Given the description of an element on the screen output the (x, y) to click on. 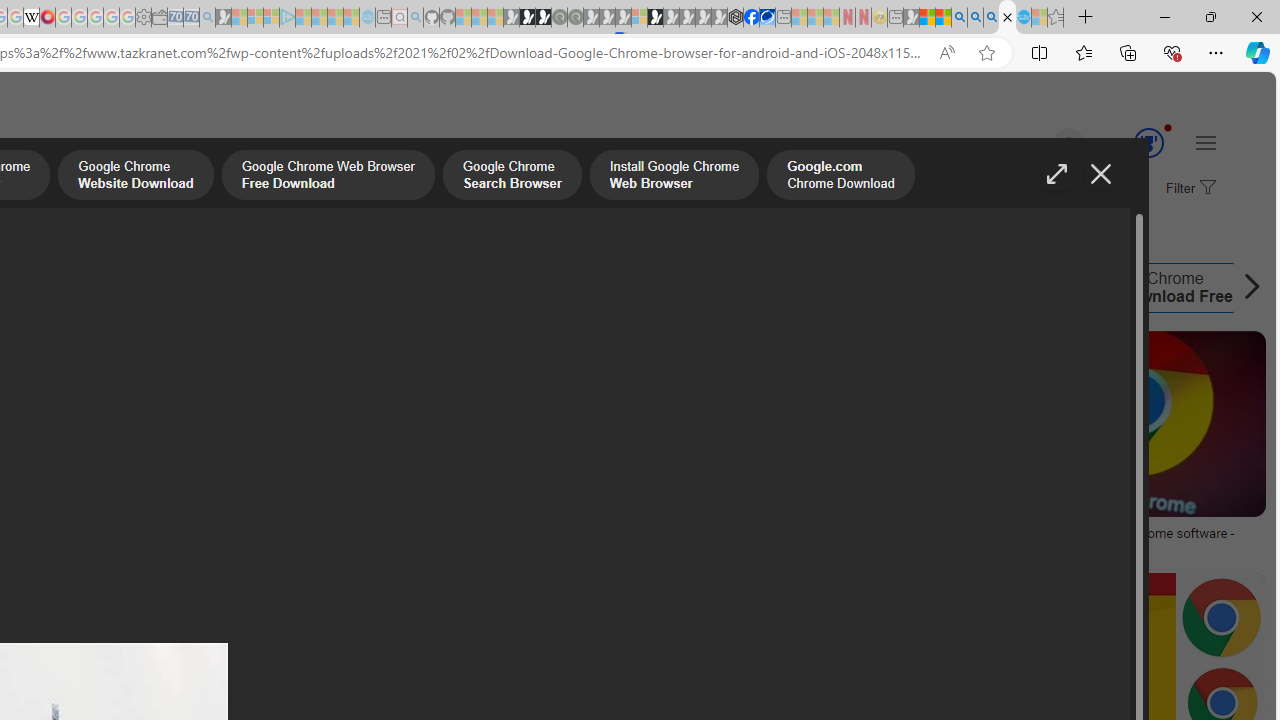
Google Chrome Website Download (135, 177)
Internet Google Chrome (669, 287)
Nordace - Cooler Bags (735, 17)
Google Chrome Fast Download (473, 287)
Image result for Google Chrome Internet Browser Download (1127, 423)
Class: item col (1144, 287)
Home | Sky Blue Bikes - Sky Blue Bikes - Sleeping (367, 17)
Bing AI - Search (959, 17)
AirNow.gov (767, 17)
